Given the description of an element on the screen output the (x, y) to click on. 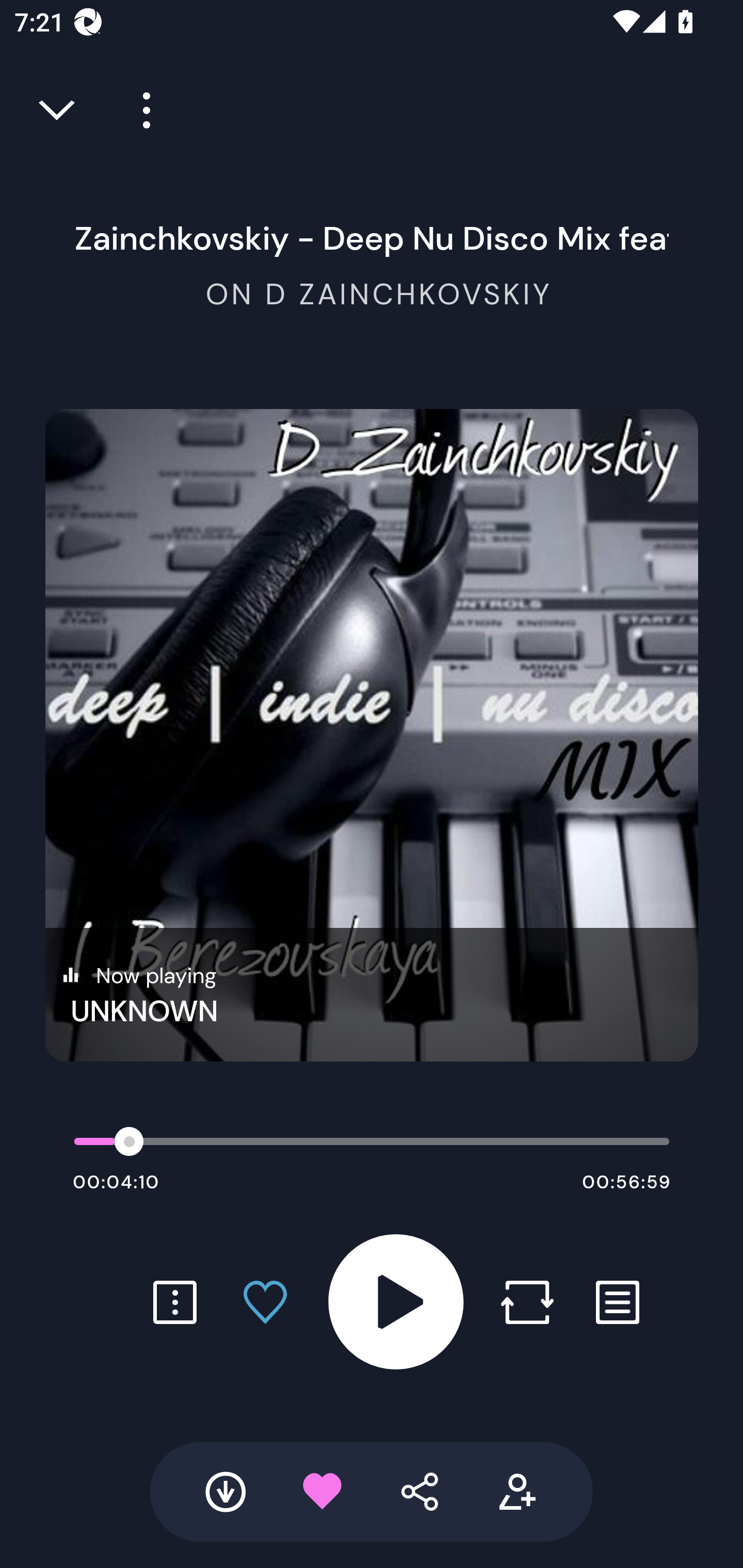
Close full player (58, 110)
Player more options button (139, 110)
Repost button (527, 1301)
